Given the description of an element on the screen output the (x, y) to click on. 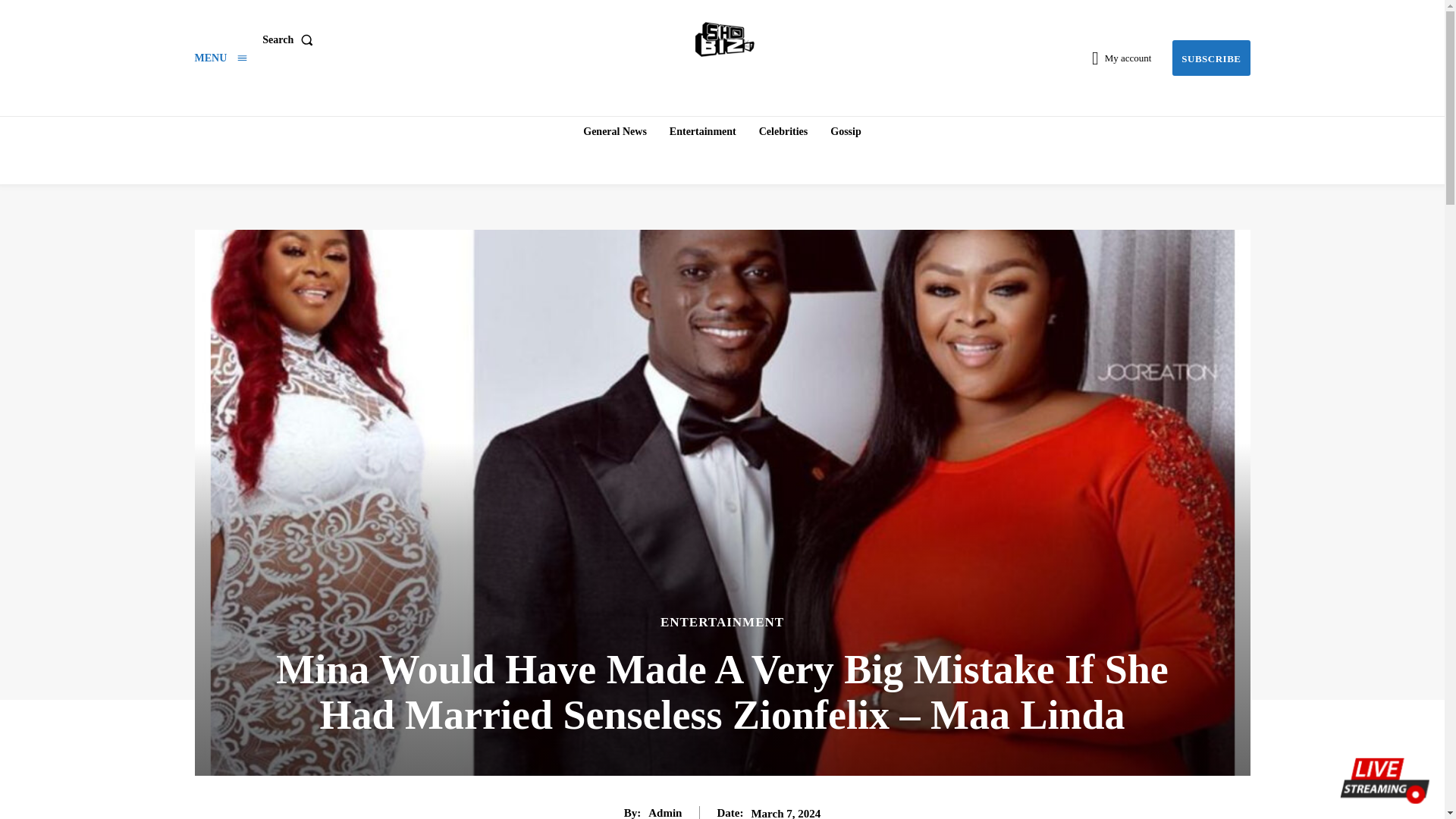
Subscribe (1210, 58)
MENU (220, 57)
Entertainment (703, 132)
SUBSCRIBE (1210, 58)
Search (290, 40)
ENTERTAINMENT (722, 621)
Gossip (844, 132)
Celebrities (783, 132)
Admin (664, 812)
General News (614, 132)
Menu (220, 57)
